Given the description of an element on the screen output the (x, y) to click on. 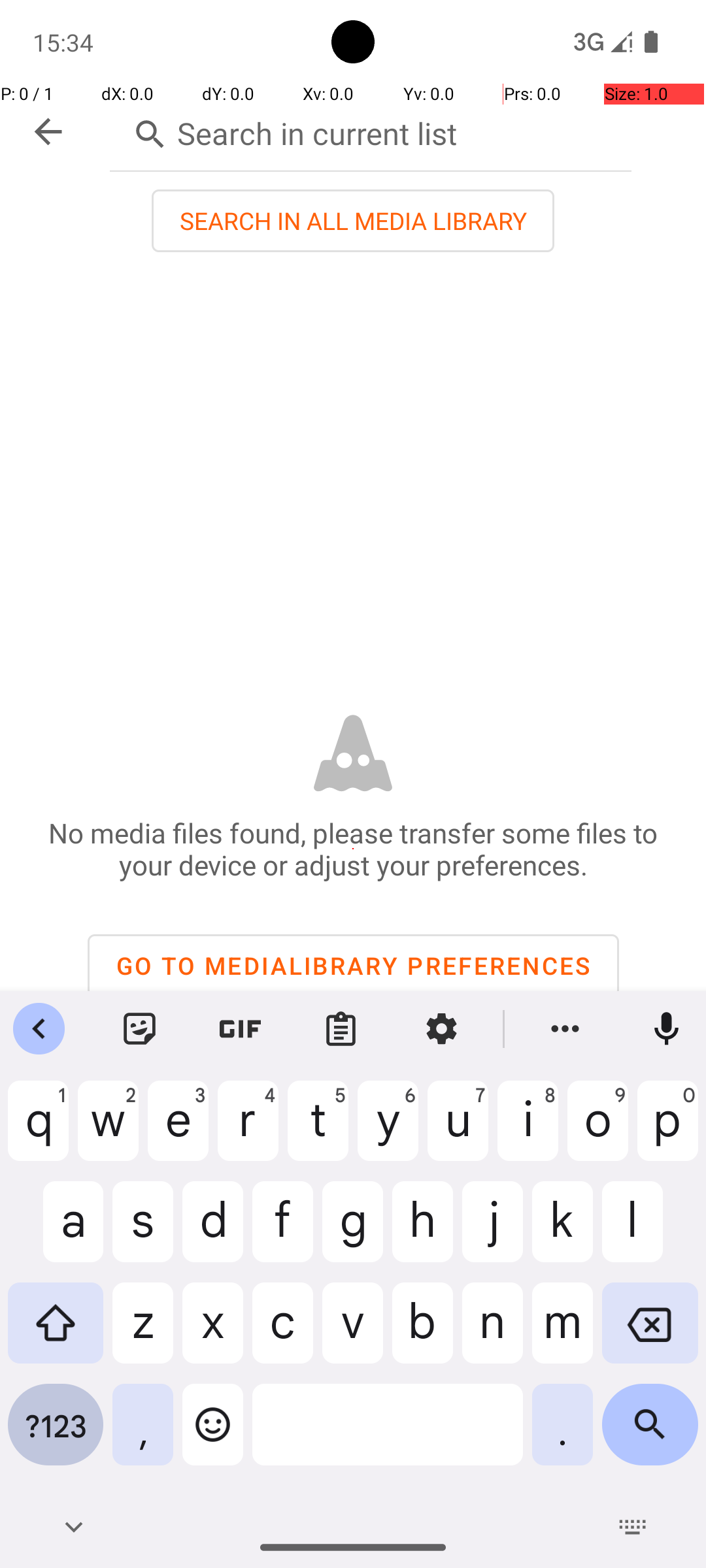
Collapse Element type: android.widget.ImageButton (48, 131)
SEARCH IN ALL MEDIA LIBRARY Element type: android.widget.Button (352, 220)
No media files found, please transfer some files to your device or adjust your preferences. Element type: android.widget.TextView (352, 848)
GO TO MEDIALIBRARY PREFERENCES Element type: android.widget.Button (353, 965)
   Search in current list Element type: android.widget.AutoCompleteTextView (370, 130)
Back Element type: android.widget.ImageView (73, 1526)
Switch input method Element type: android.widget.ImageView (632, 1526)
Close features menu Element type: android.widget.FrameLayout (39, 1028)
Sticker Keyboard Element type: android.widget.FrameLayout (139, 1028)
GIF Keyboard Element type: android.widget.FrameLayout (240, 1028)
Clipboard Element type: android.widget.FrameLayout (340, 1028)
Settings Element type: android.widget.FrameLayout (441, 1028)
More features Element type: android.widget.FrameLayout (565, 1028)
Voice input Element type: android.widget.FrameLayout (666, 1028)
q Element type: android.widget.FrameLayout (38, 1130)
w Element type: android.widget.FrameLayout (108, 1130)
e Element type: android.widget.FrameLayout (178, 1130)
r Element type: android.widget.FrameLayout (248, 1130)
t Element type: android.widget.FrameLayout (318, 1130)
y Element type: android.widget.FrameLayout (387, 1130)
u Element type: android.widget.FrameLayout (457, 1130)
i Element type: android.widget.FrameLayout (527, 1130)
o Element type: android.widget.FrameLayout (597, 1130)
p Element type: android.widget.FrameLayout (667, 1130)
a Element type: android.widget.FrameLayout (55, 1231)
s Element type: android.widget.FrameLayout (142, 1231)
d Element type: android.widget.FrameLayout (212, 1231)
f Element type: android.widget.FrameLayout (282, 1231)
g Element type: android.widget.FrameLayout (352, 1231)
h Element type: android.widget.FrameLayout (422, 1231)
j Element type: android.widget.FrameLayout (492, 1231)
k Element type: android.widget.FrameLayout (562, 1231)
l Element type: android.widget.FrameLayout (649, 1231)
Shift Element type: android.widget.FrameLayout (55, 1332)
z Element type: android.widget.FrameLayout (142, 1332)
x Element type: android.widget.FrameLayout (212, 1332)
c Element type: android.widget.FrameLayout (282, 1332)
v Element type: android.widget.FrameLayout (352, 1332)
b Element type: android.widget.FrameLayout (422, 1332)
n Element type: android.widget.FrameLayout (492, 1332)
m Element type: android.widget.FrameLayout (562, 1332)
Delete Element type: android.widget.FrameLayout (649, 1332)
Symbol keyboard Element type: android.widget.FrameLayout (55, 1434)
, Element type: android.widget.FrameLayout (142, 1434)
Emoji button Element type: android.widget.FrameLayout (212, 1434)
Space Element type: android.widget.FrameLayout (387, 1434)
. Element type: android.widget.FrameLayout (562, 1434)
Search Element type: android.widget.FrameLayout (649, 1434)
